Given the description of an element on the screen output the (x, y) to click on. 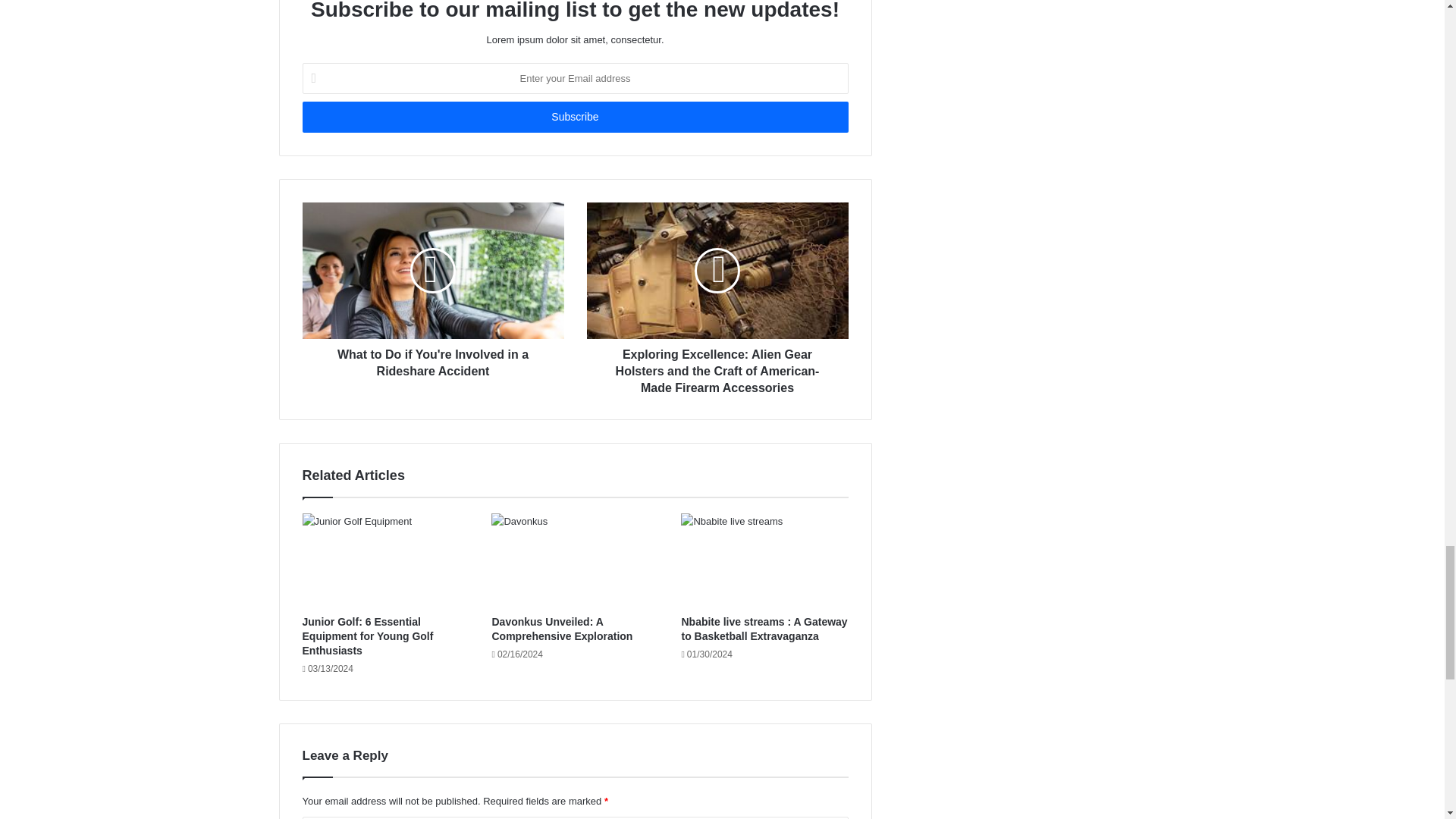
Subscribe (574, 116)
